Given the description of an element on the screen output the (x, y) to click on. 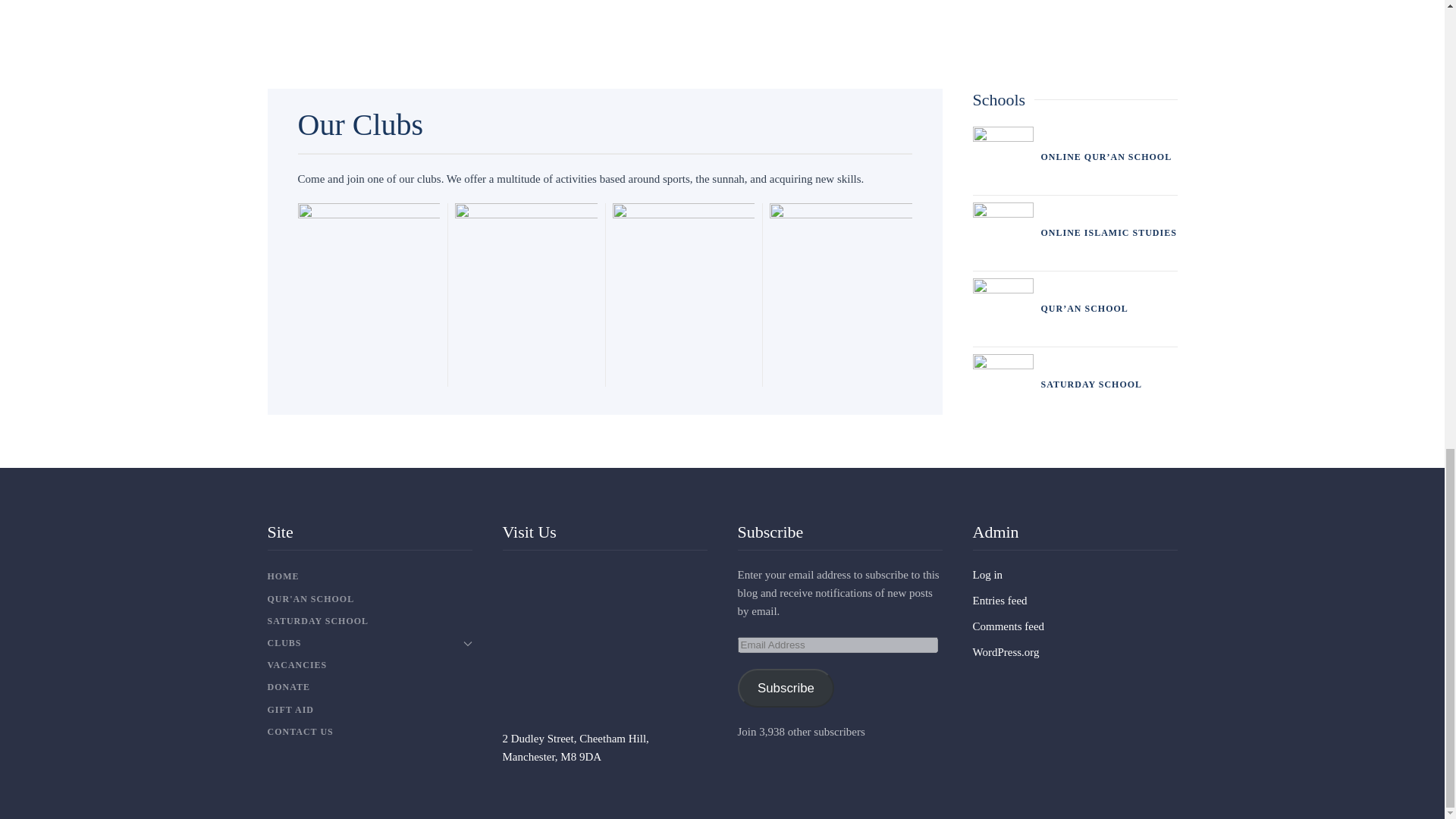
Google Map Embed (604, 647)
